Given the description of an element on the screen output the (x, y) to click on. 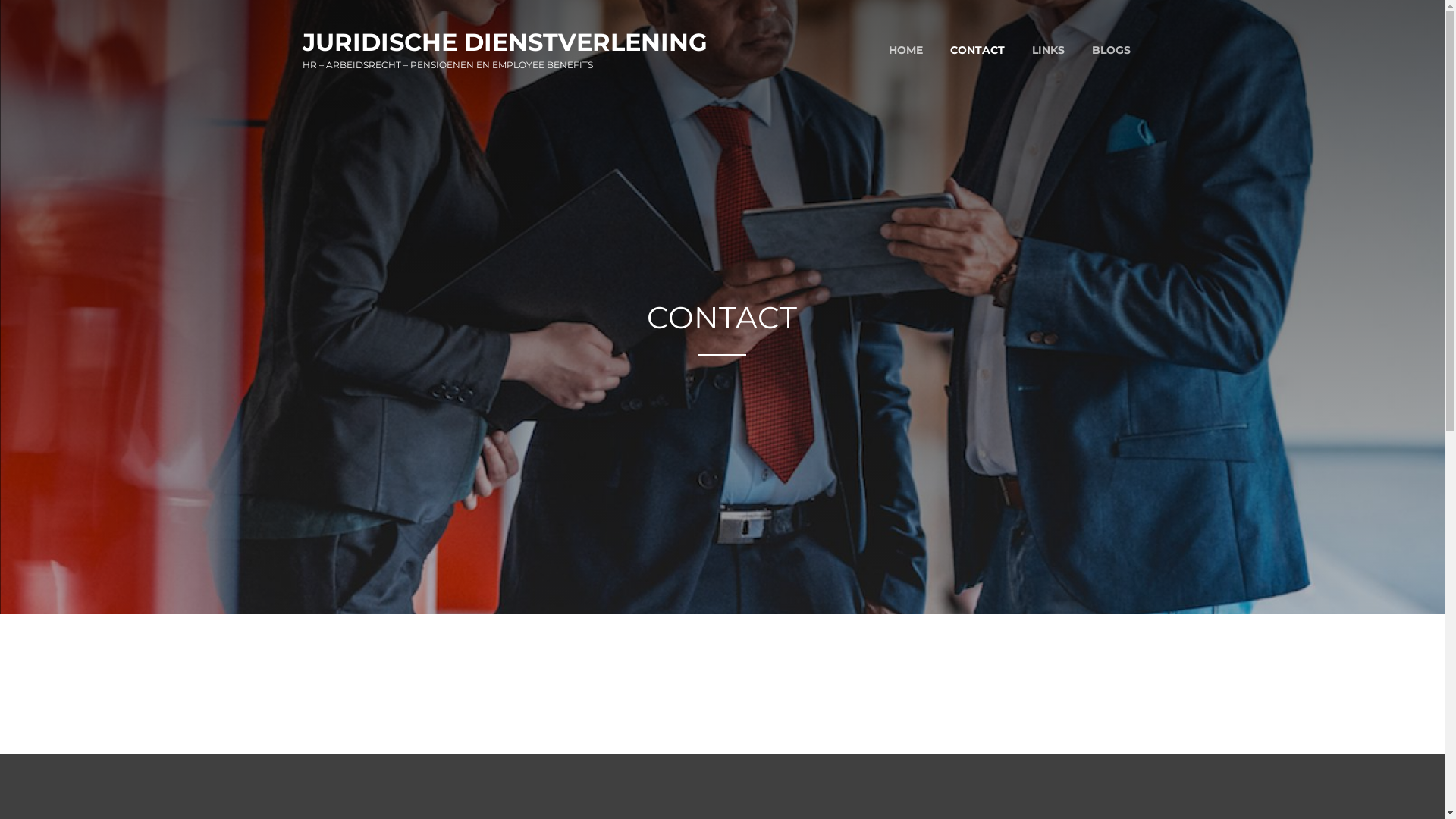
HOME Element type: text (905, 50)
BLOGS Element type: text (1110, 50)
JURIDISCHE DIENSTVERLENING Element type: text (503, 41)
LINKS Element type: text (1047, 50)
CONTACT Element type: text (976, 50)
